Given the description of an element on the screen output the (x, y) to click on. 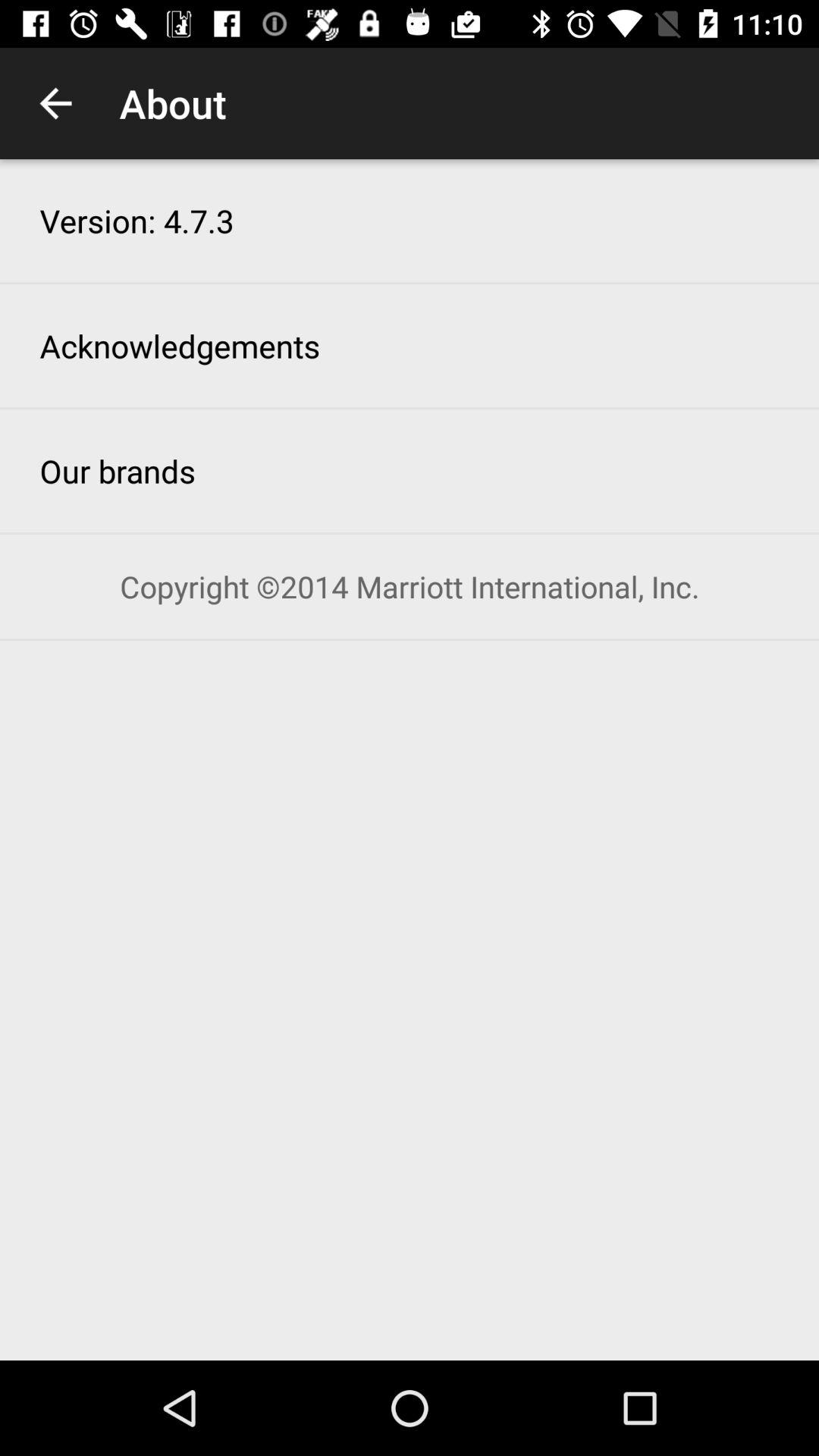
launch item above copyright 2014 marriott item (117, 470)
